Given the description of an element on the screen output the (x, y) to click on. 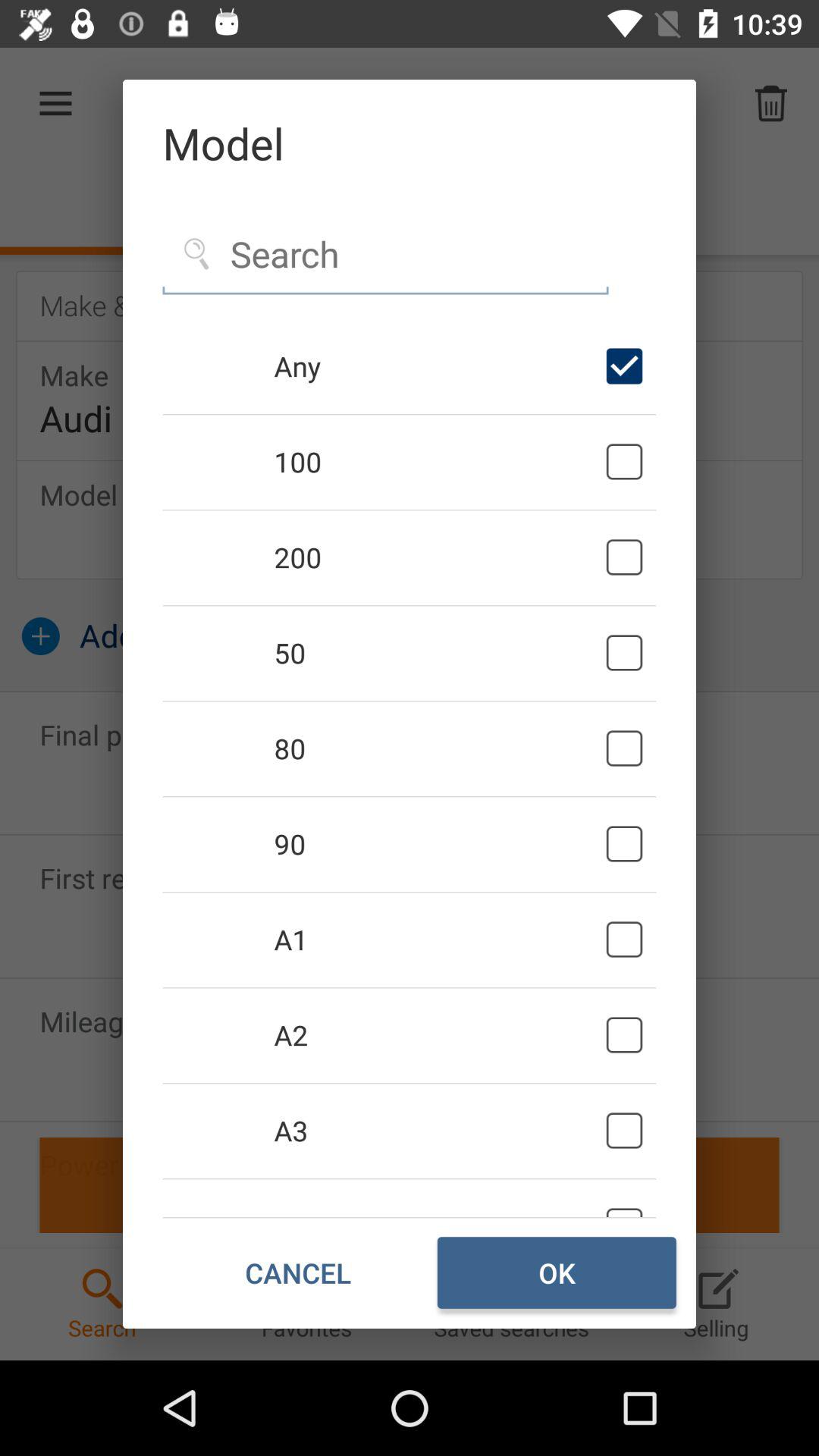
use search function (385, 254)
